Given the description of an element on the screen output the (x, y) to click on. 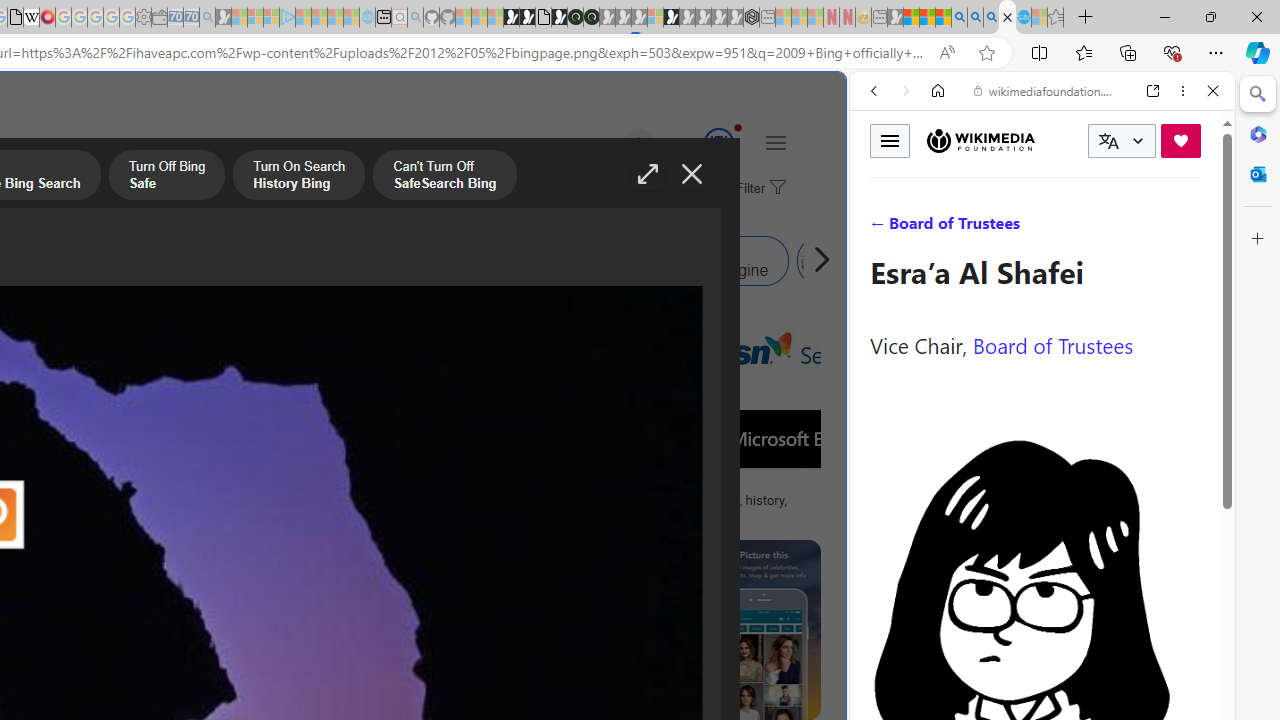
Close split screen (844, 102)
Https Bing Search Q MSN (822, 260)
Turn On Search History Bing (299, 177)
Search or enter web address (343, 191)
Services - Maintenance | Sky Blue Bikes - Sky Blue Bikes (1023, 17)
